Given the description of an element on the screen output the (x, y) to click on. 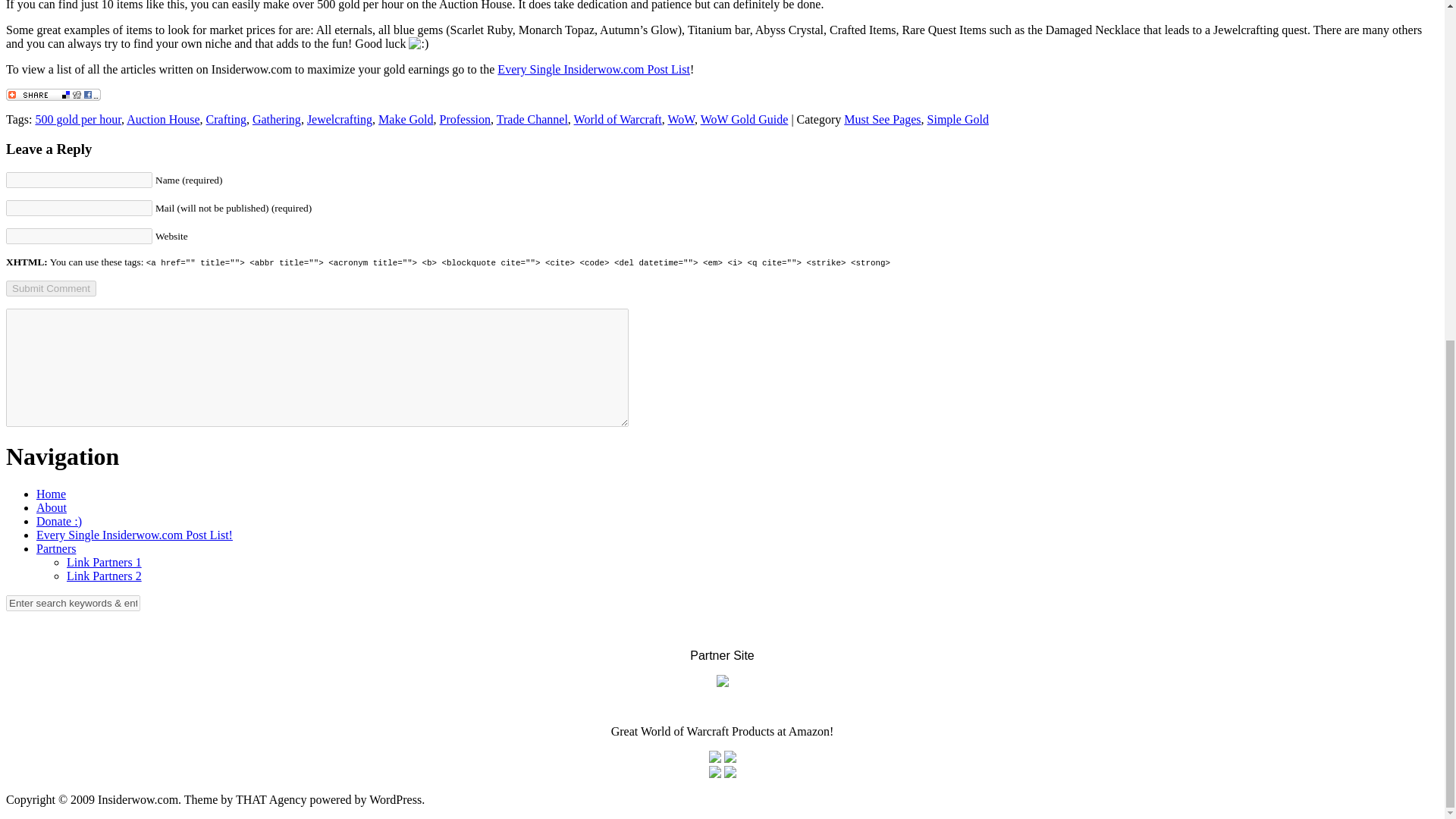
Partners (55, 548)
Profession (465, 119)
Insiderwow.com (50, 493)
Must See Pages (882, 119)
WoW Gold Guide (744, 119)
WoW (680, 119)
Make Gold (405, 119)
500 gold per hour (77, 119)
Auction House (162, 119)
Simple Gold (957, 119)
